Given the description of an element on the screen output the (x, y) to click on. 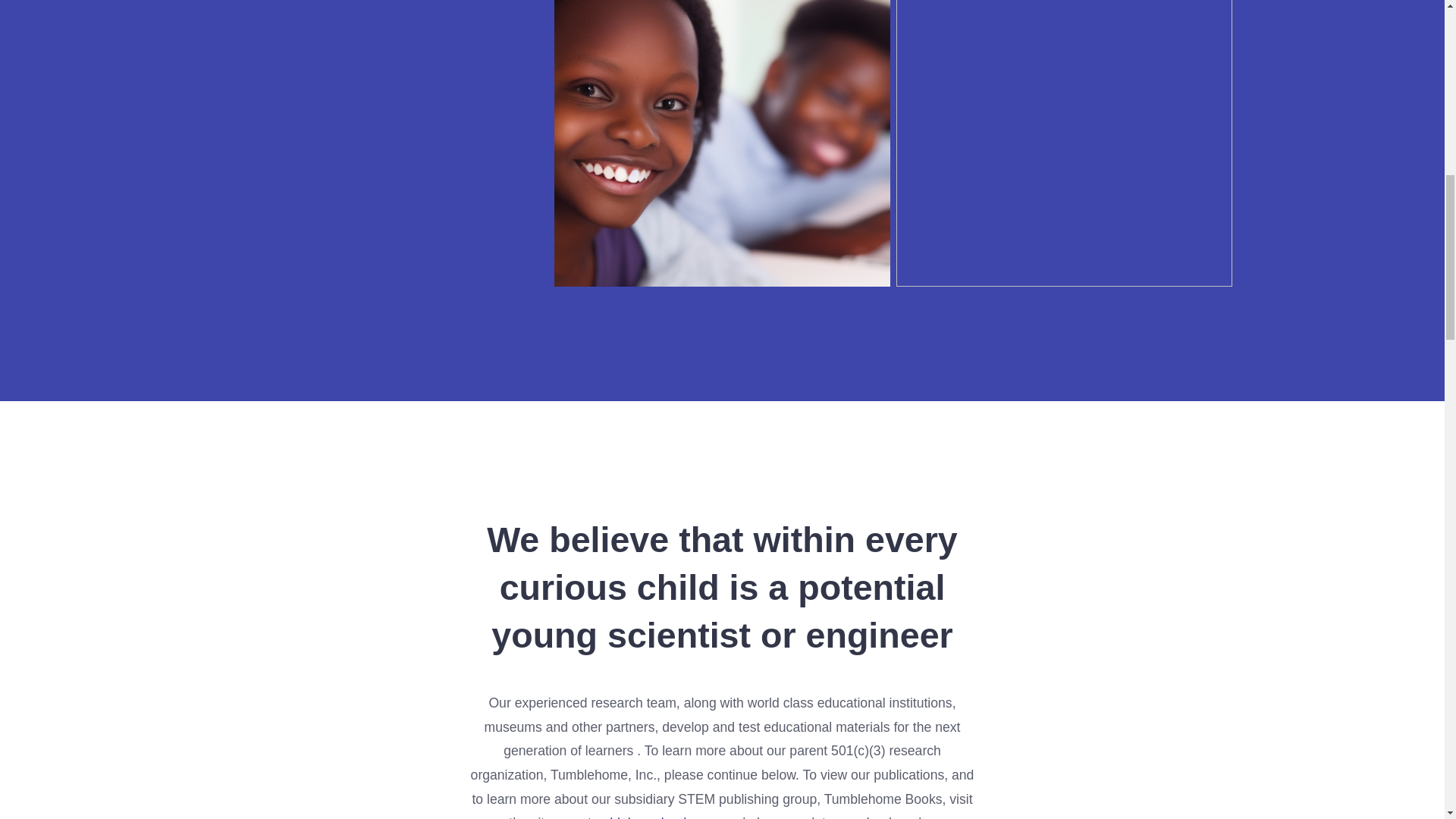
www.tumblehomebooks.org (637, 816)
